Given the description of an element on the screen output the (x, y) to click on. 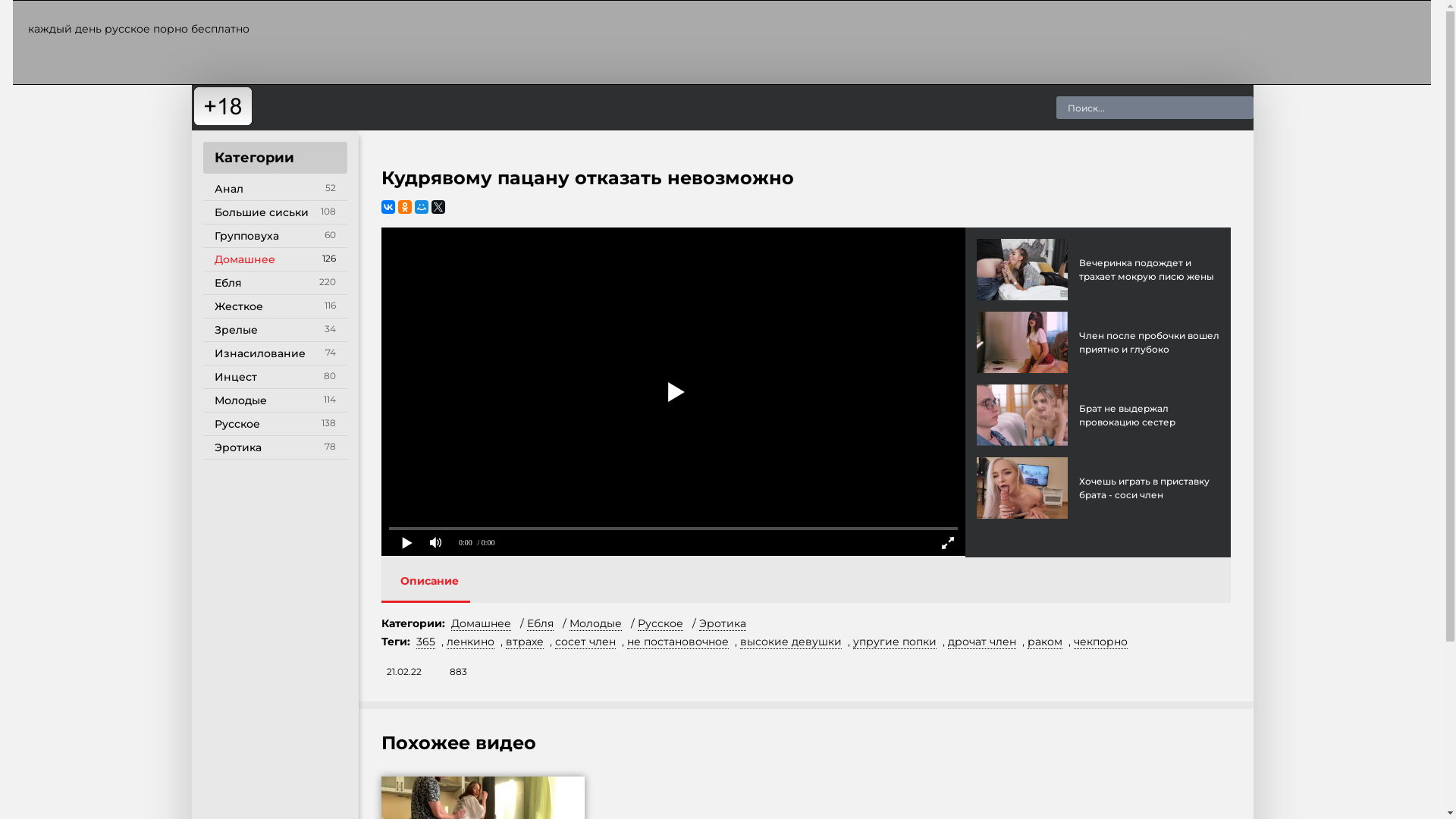
Twitter Element type: hover (437, 206)
365 Element type: text (424, 641)
